Given the description of an element on the screen output the (x, y) to click on. 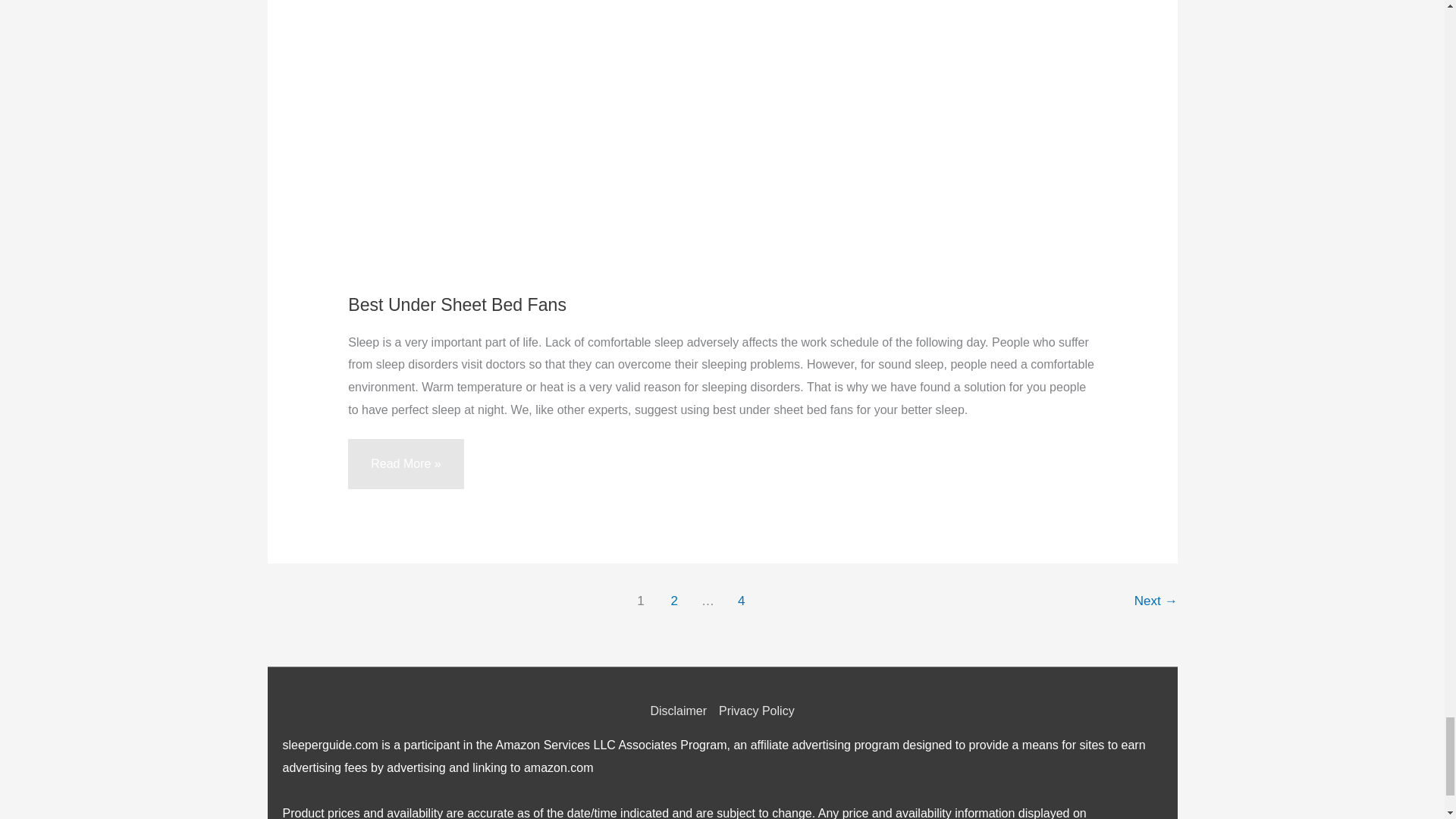
Best Under Sheet Bed Fans (456, 304)
4 (741, 603)
2 (673, 603)
